Given the description of an element on the screen output the (x, y) to click on. 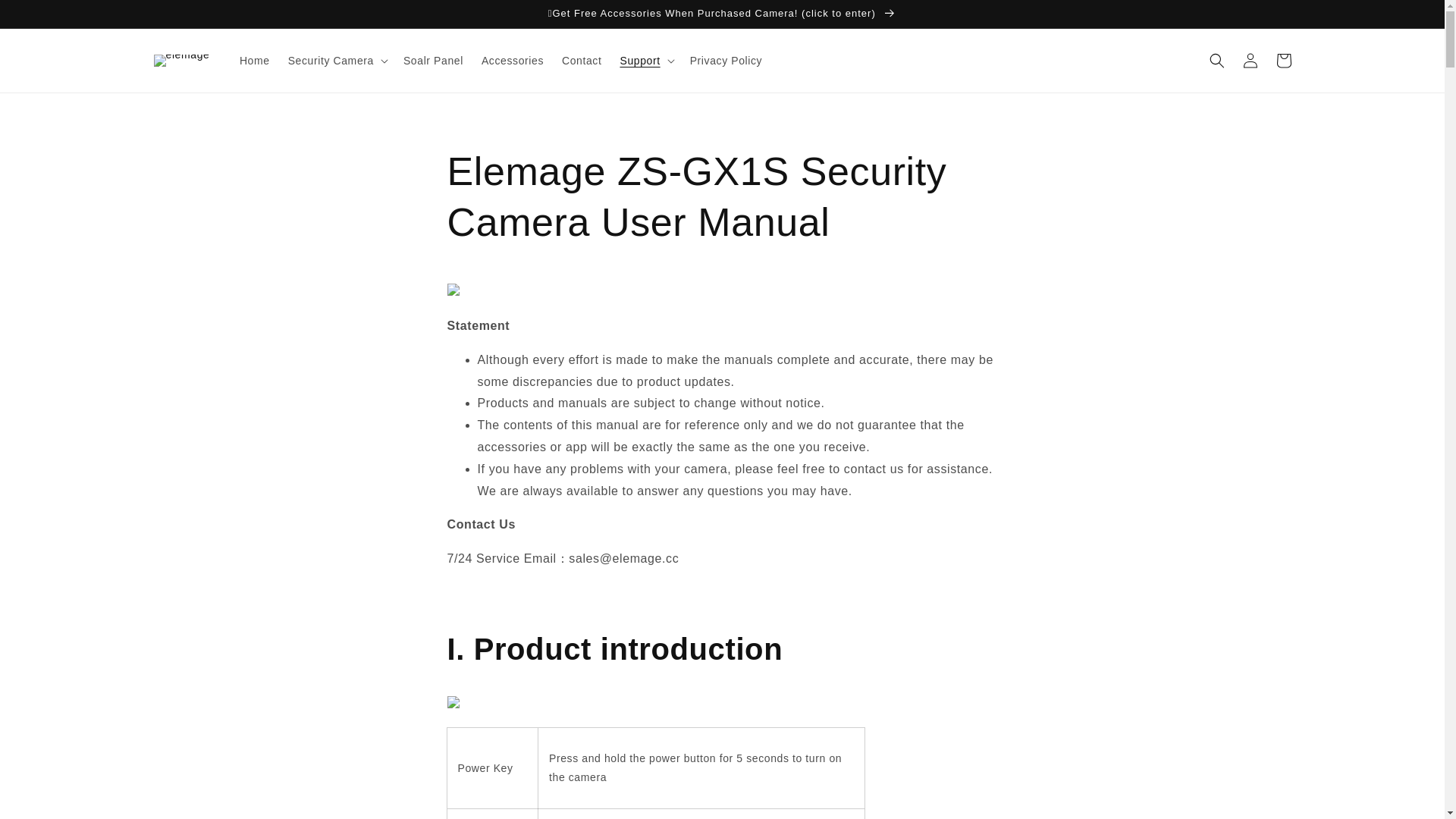
Accessories (512, 60)
Privacy Policy (726, 60)
Contact (581, 60)
Home (254, 60)
Skip to content (45, 16)
Log in (1249, 60)
Cart (1283, 60)
Soalr Panel (432, 60)
